Given the description of an element on the screen output the (x, y) to click on. 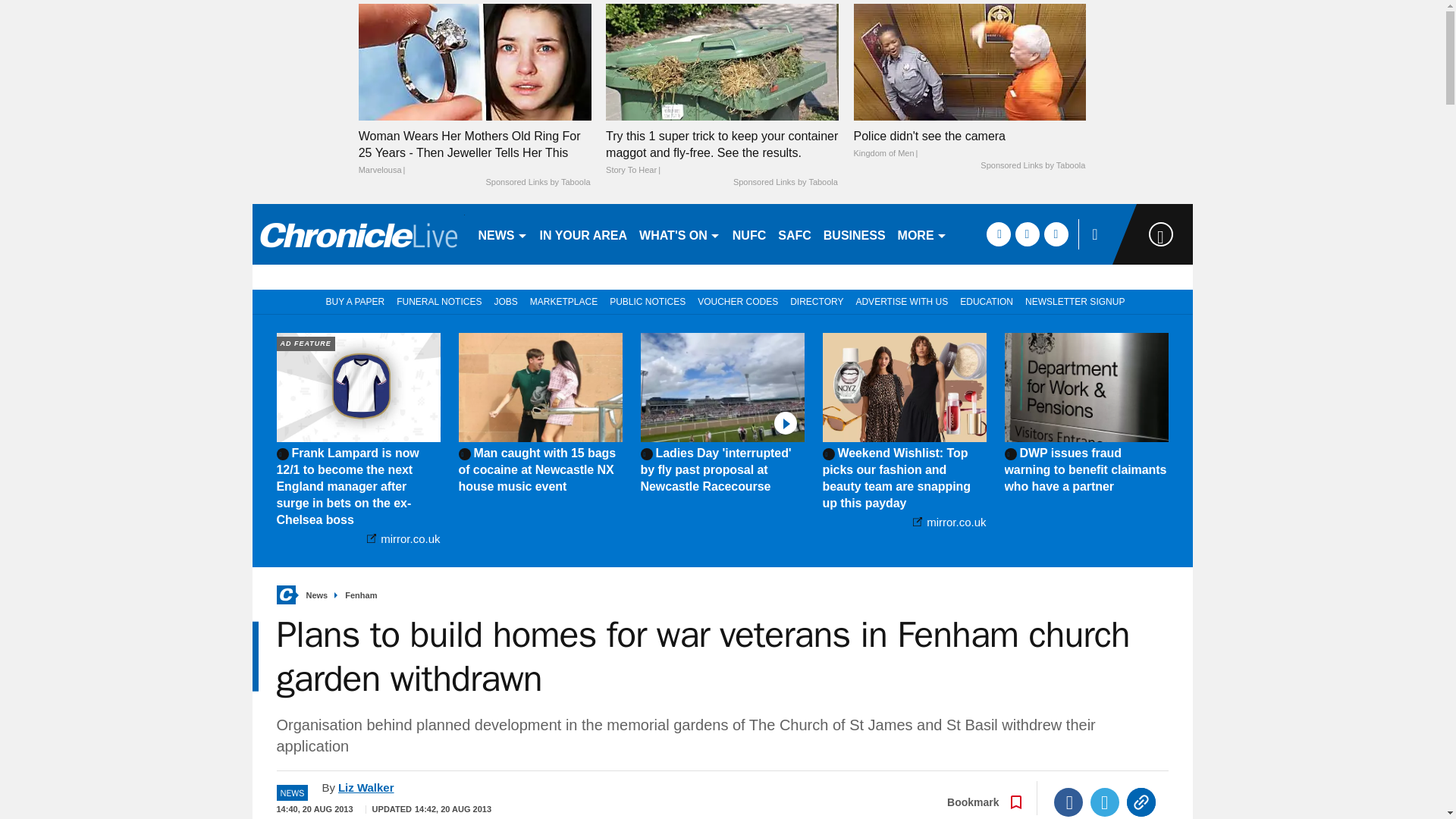
facebook (997, 233)
instagram (1055, 233)
Sponsored Links by Taboola (1031, 165)
Twitter (1104, 801)
NEWS (501, 233)
Facebook (1068, 801)
nechronicle (357, 233)
Police didn't see the camera (969, 61)
Sponsored Links by Taboola (785, 182)
IN YOUR AREA (583, 233)
twitter (1026, 233)
